Given the description of an element on the screen output the (x, y) to click on. 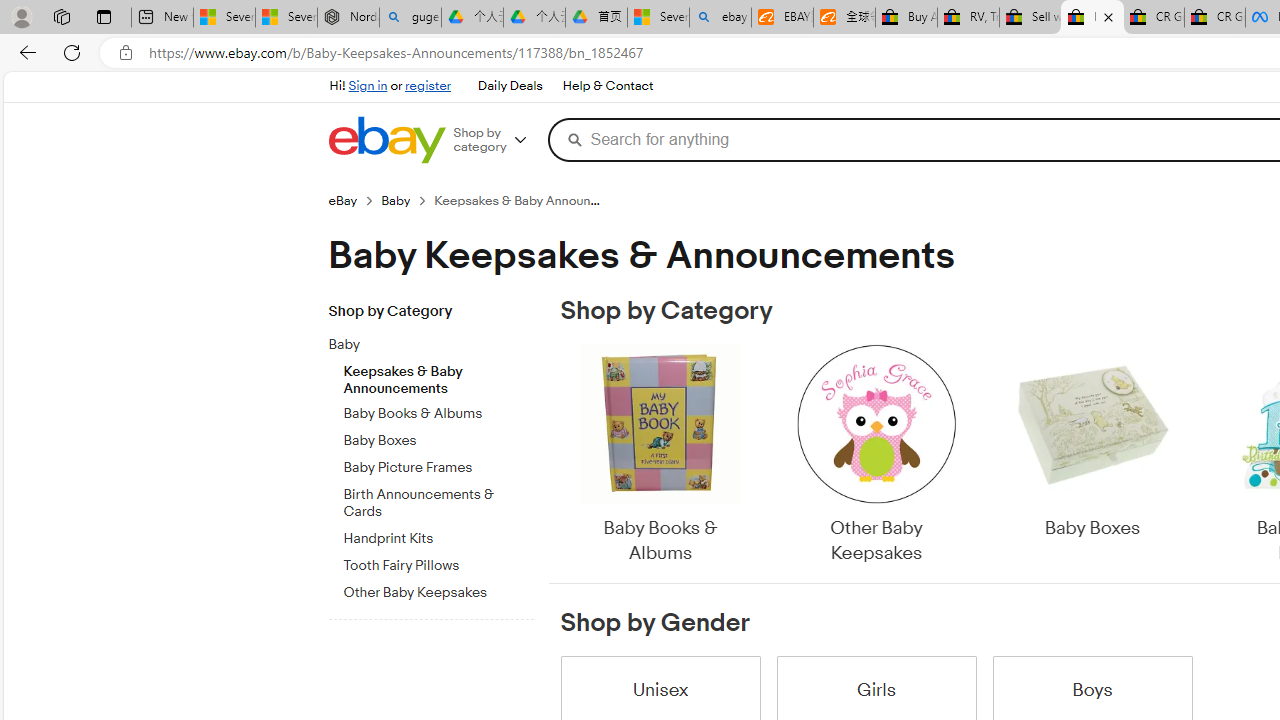
Other Baby Keepsakes (875, 455)
Go to previous slide (560, 455)
Handprint Kits (438, 535)
Baby Picture Frames (438, 468)
Birth Announcements & Cards (438, 504)
Baby Books & Albums (660, 455)
Keepsakes & Baby Announcements (438, 375)
Baby Boxes (1092, 443)
Help & Contact (606, 85)
